Given the description of an element on the screen output the (x, y) to click on. 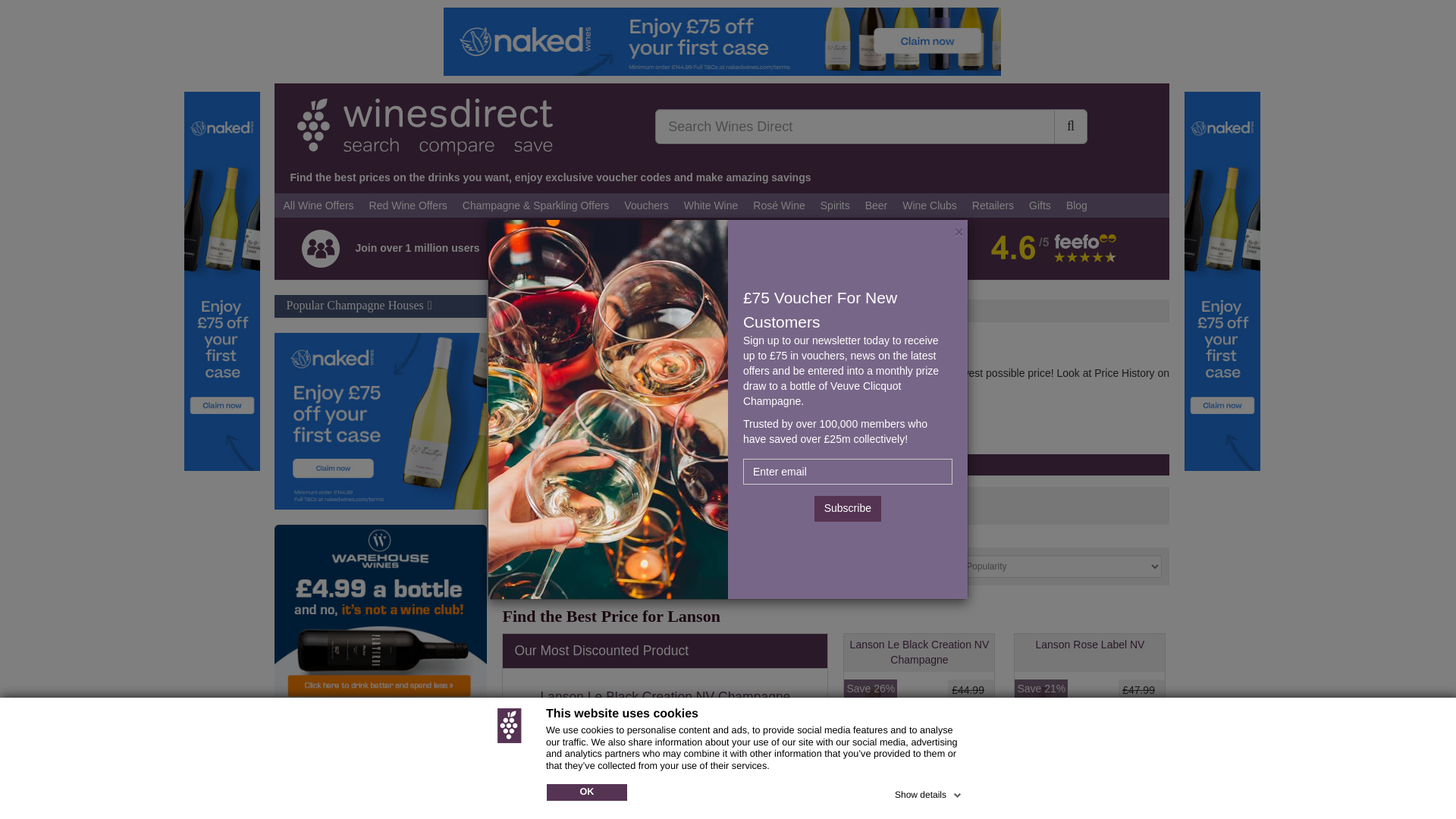
OK (587, 791)
Show details (929, 791)
